Given the description of an element on the screen output the (x, y) to click on. 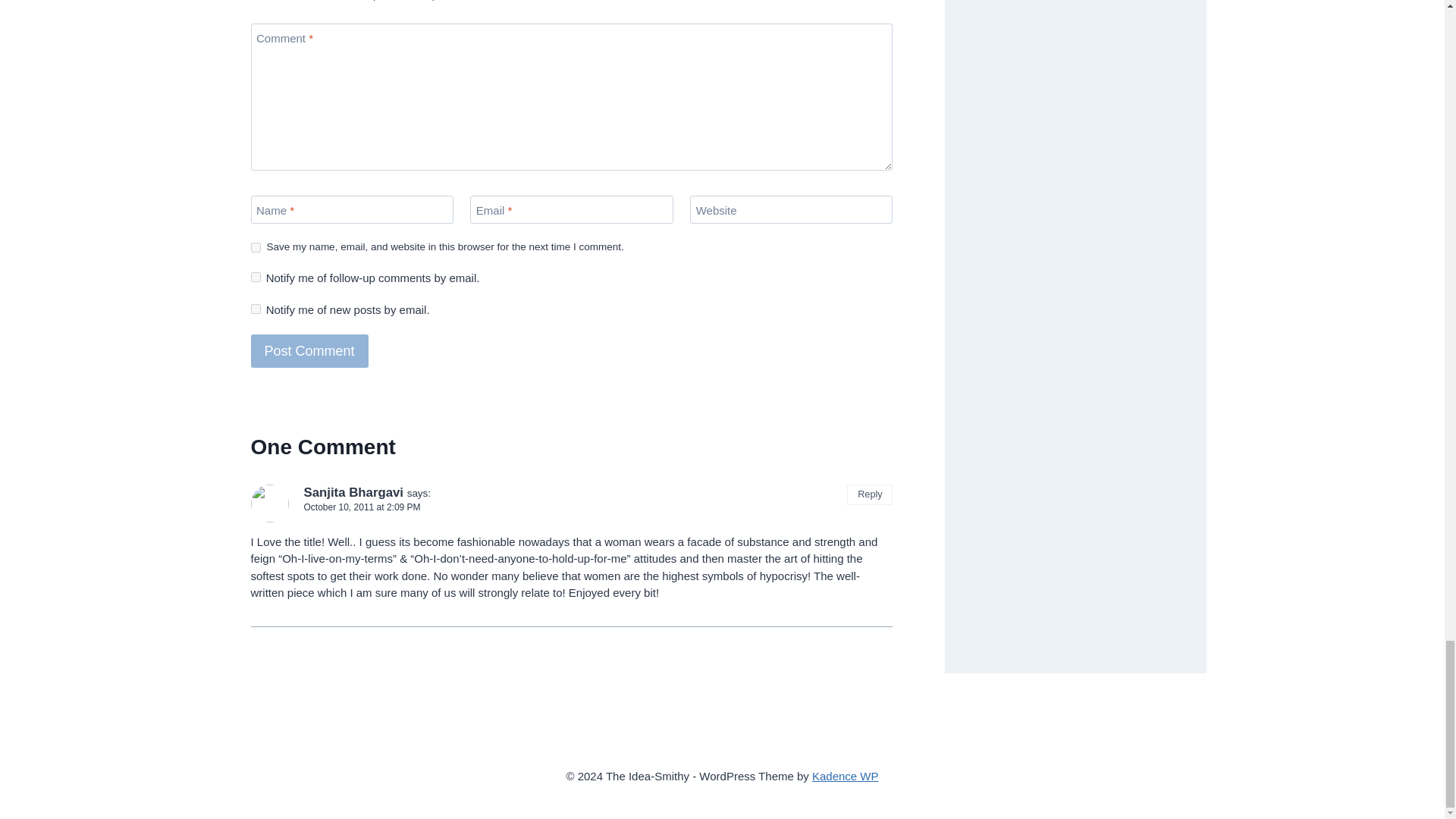
Post Comment (309, 350)
subscribe (255, 308)
subscribe (255, 276)
yes (255, 247)
